Given the description of an element on the screen output the (x, y) to click on. 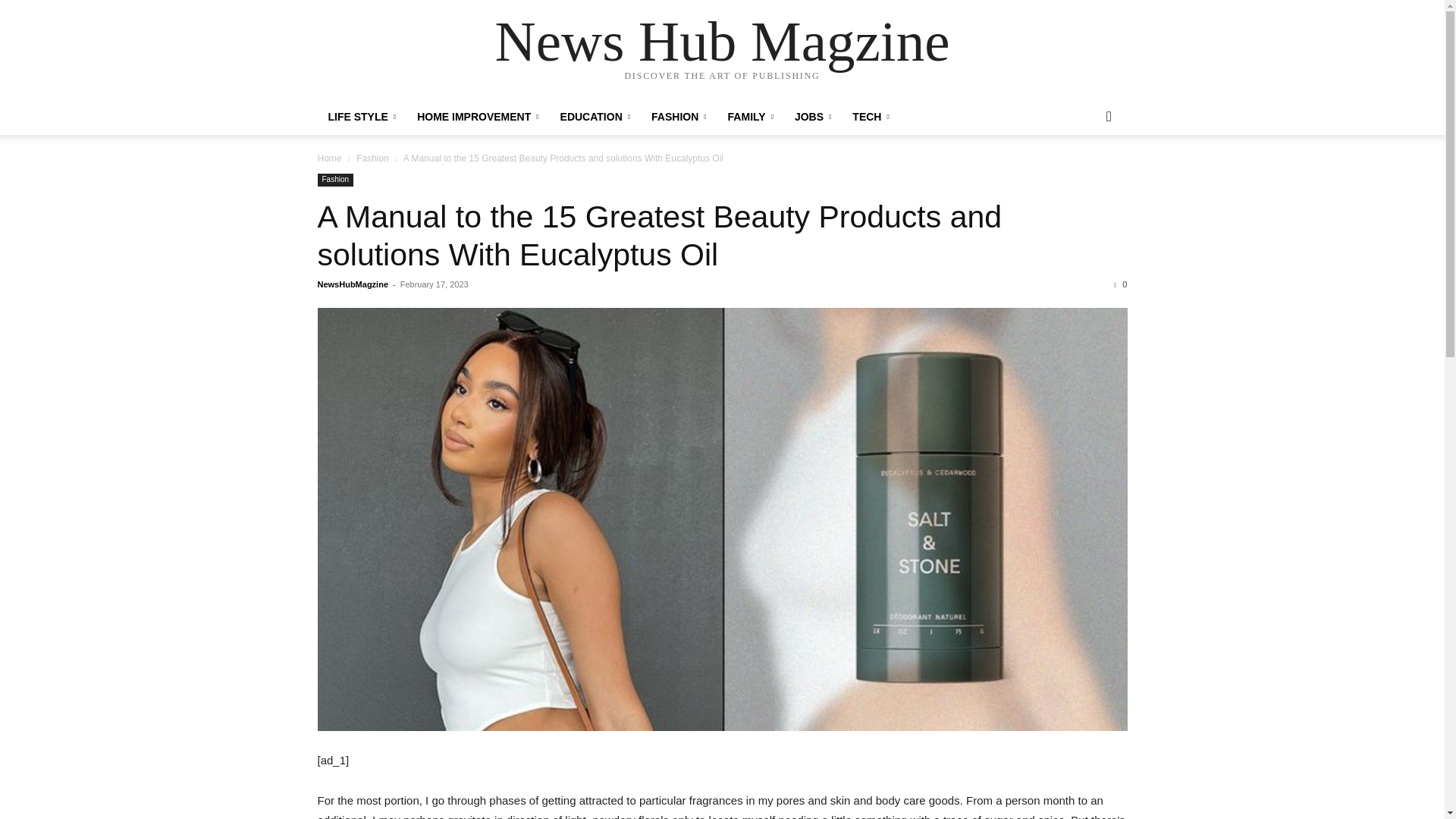
LIFE STYLE (361, 116)
FAMILY (750, 116)
JOBS (812, 116)
EDUCATION (595, 116)
FASHION (678, 116)
News Hub Magzine (722, 41)
View all posts in Fashion (372, 158)
HOME IMPROVEMENT (477, 116)
